Given the description of an element on the screen output the (x, y) to click on. 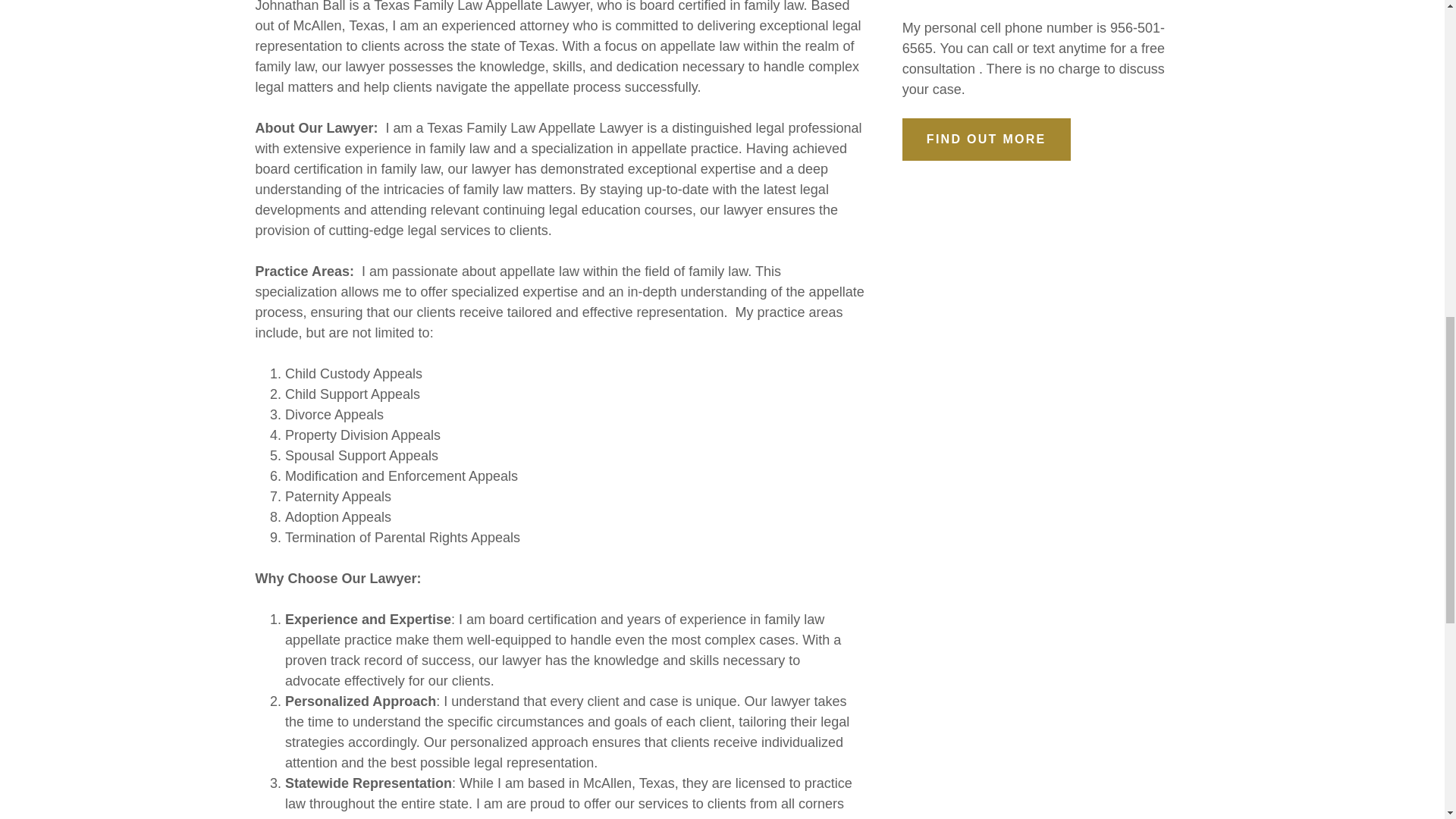
FIND OUT MORE (986, 138)
ACCEPT (1274, 324)
